Given the description of an element on the screen output the (x, y) to click on. 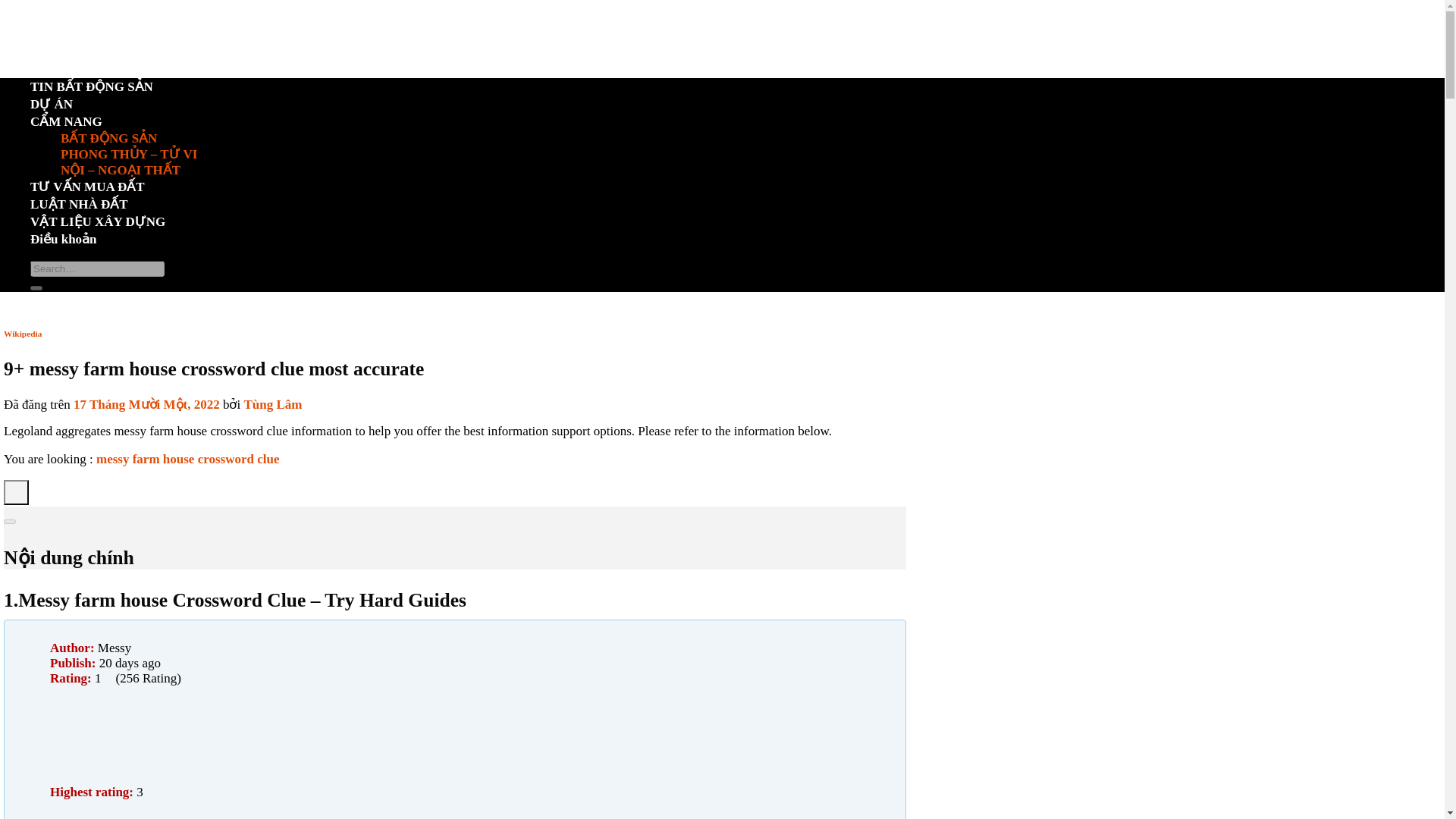
Wikipedia (23, 333)
Hotline : 0928.115.885 (91, 161)
messy farm house crossword clue (187, 459)
click To Maximize The Table Of Contents (16, 492)
